Given the description of an element on the screen output the (x, y) to click on. 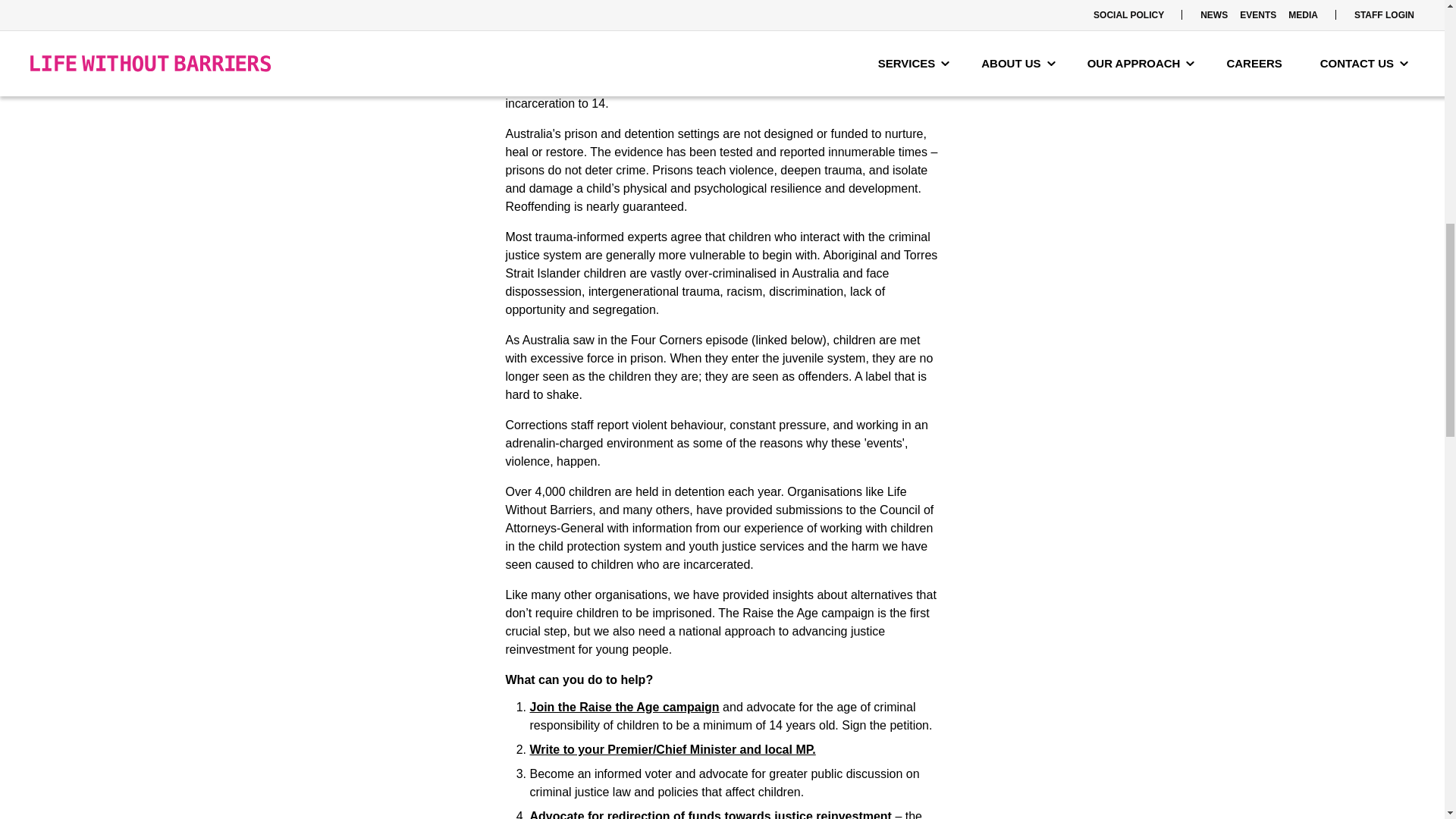
shared by the ABC (803, 3)
Join the Raise the Age campaign (624, 707)
